Given the description of an element on the screen output the (x, y) to click on. 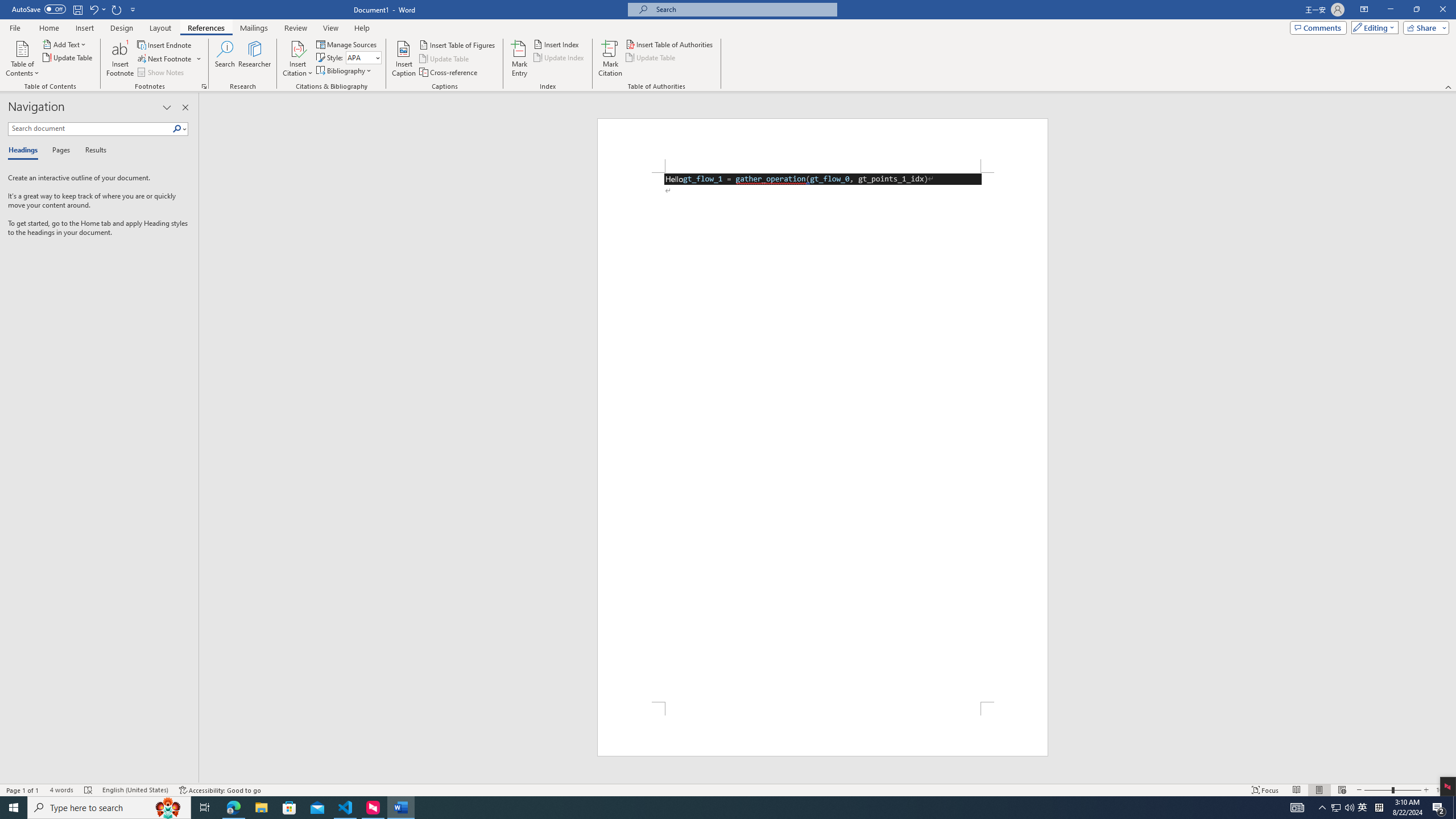
Repeat Underline Style (117, 9)
Results (91, 150)
Next Footnote (169, 58)
Zoom (1392, 790)
Undo Underline Style (92, 9)
Style (363, 56)
